Given the description of an element on the screen output the (x, y) to click on. 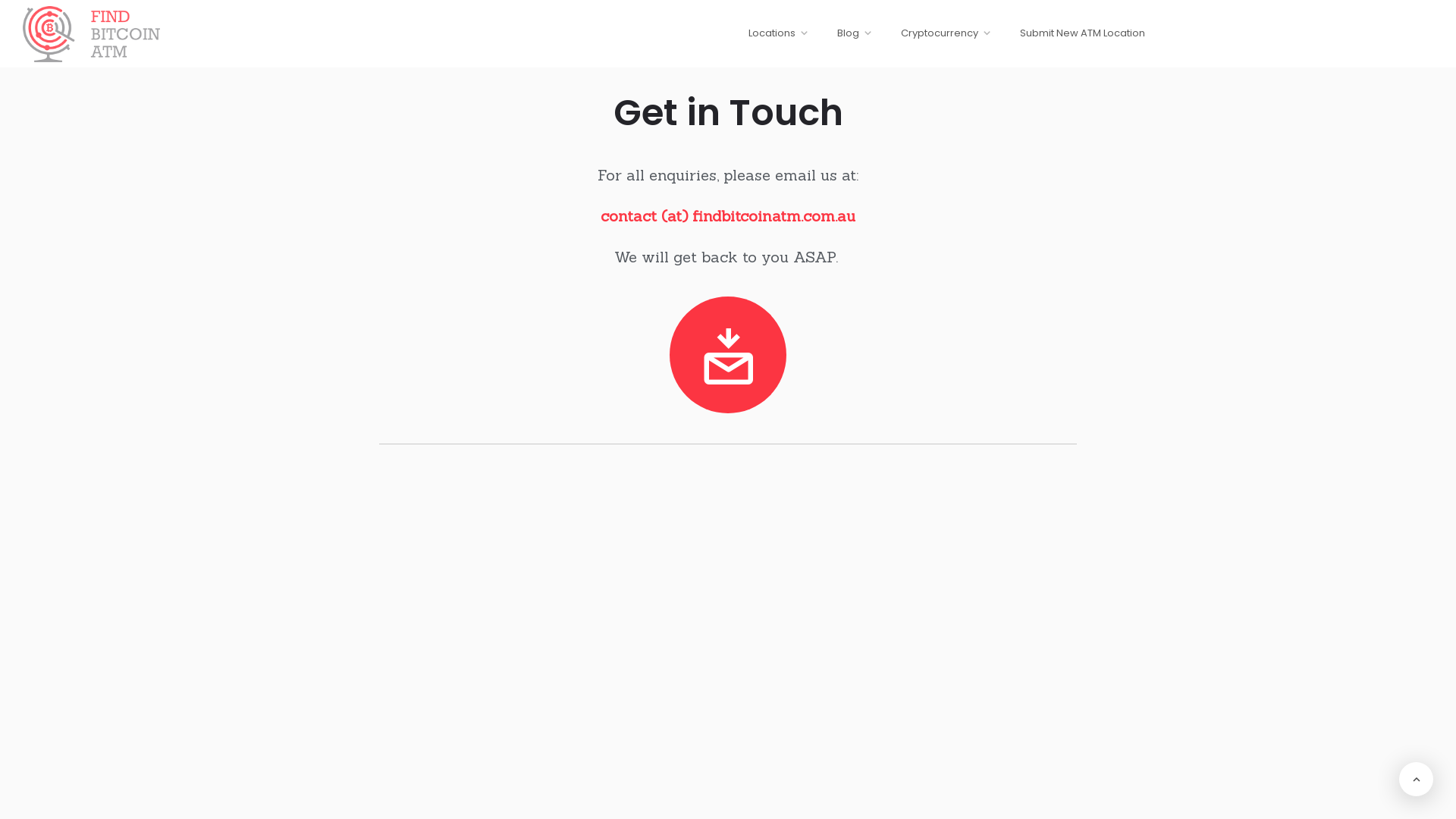
Locations Element type: text (777, 38)
keyboard_arrow_up Element type: text (1416, 779)
Cryptocurrency Element type: text (939, 38)
Blog Element type: text (848, 38)
Submit New ATM Location Element type: text (1082, 32)
